Given the description of an element on the screen output the (x, y) to click on. 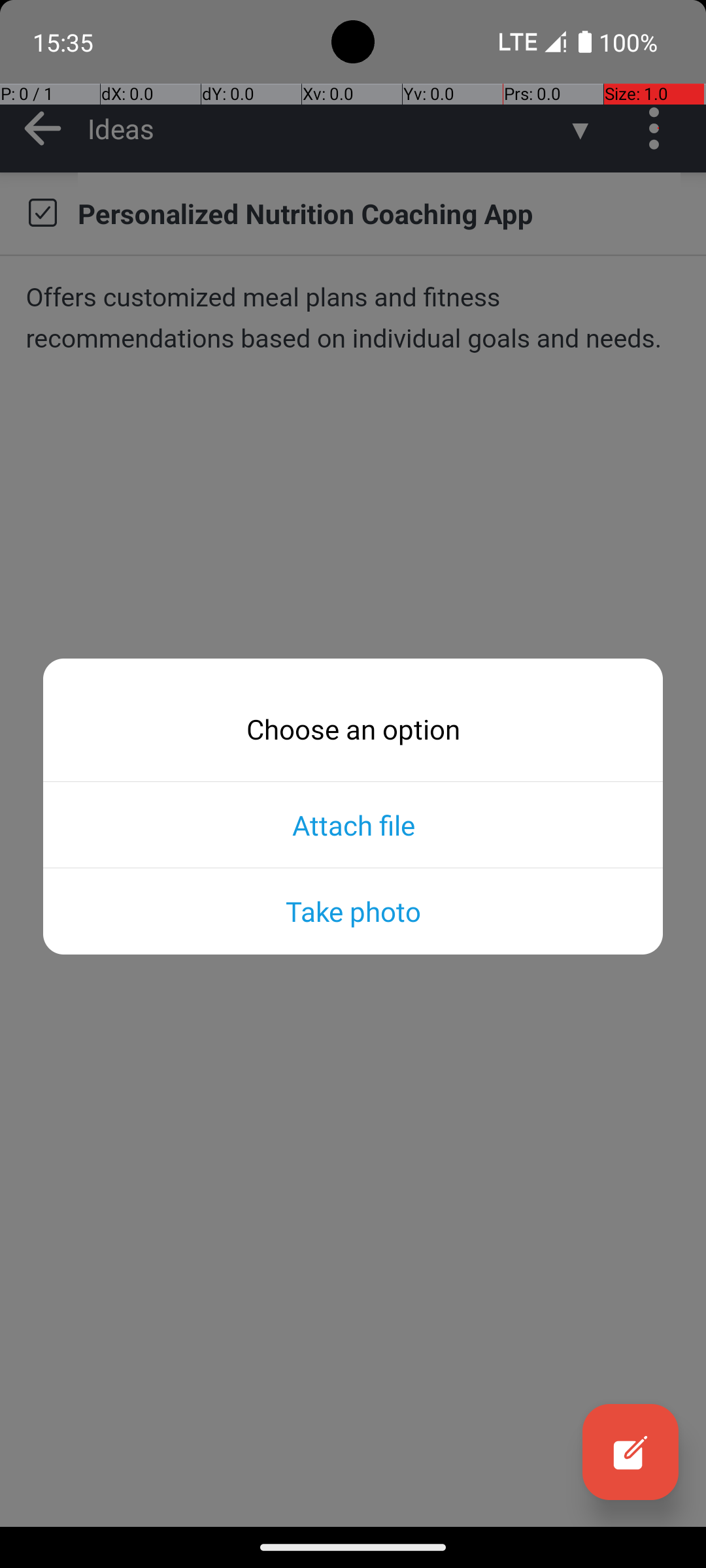
Choose an option Element type: android.widget.TextView (353, 728)
Personalized Nutrition Coaching App Element type: android.widget.EditText (378, 213)
Attach file Element type: android.widget.TextView (352, 824)
Take photo Element type: android.widget.TextView (352, 910)
Offers customized meal plans and fitness recommendations based on individual goals and needs. Element type: android.widget.TextView (352, 317)
